Given the description of an element on the screen output the (x, y) to click on. 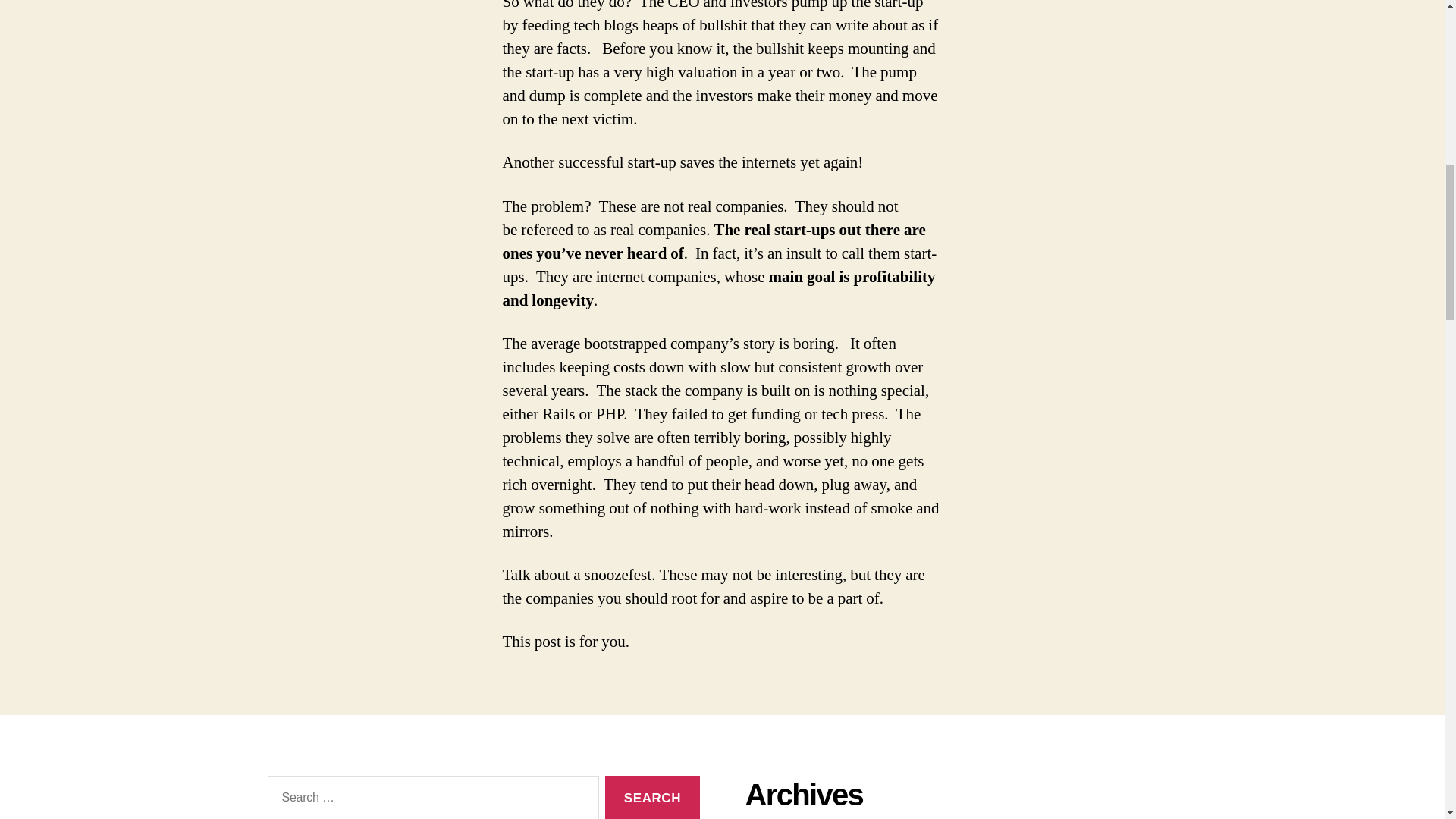
Search (651, 797)
Search (651, 797)
Search (651, 797)
